Given the description of an element on the screen output the (x, y) to click on. 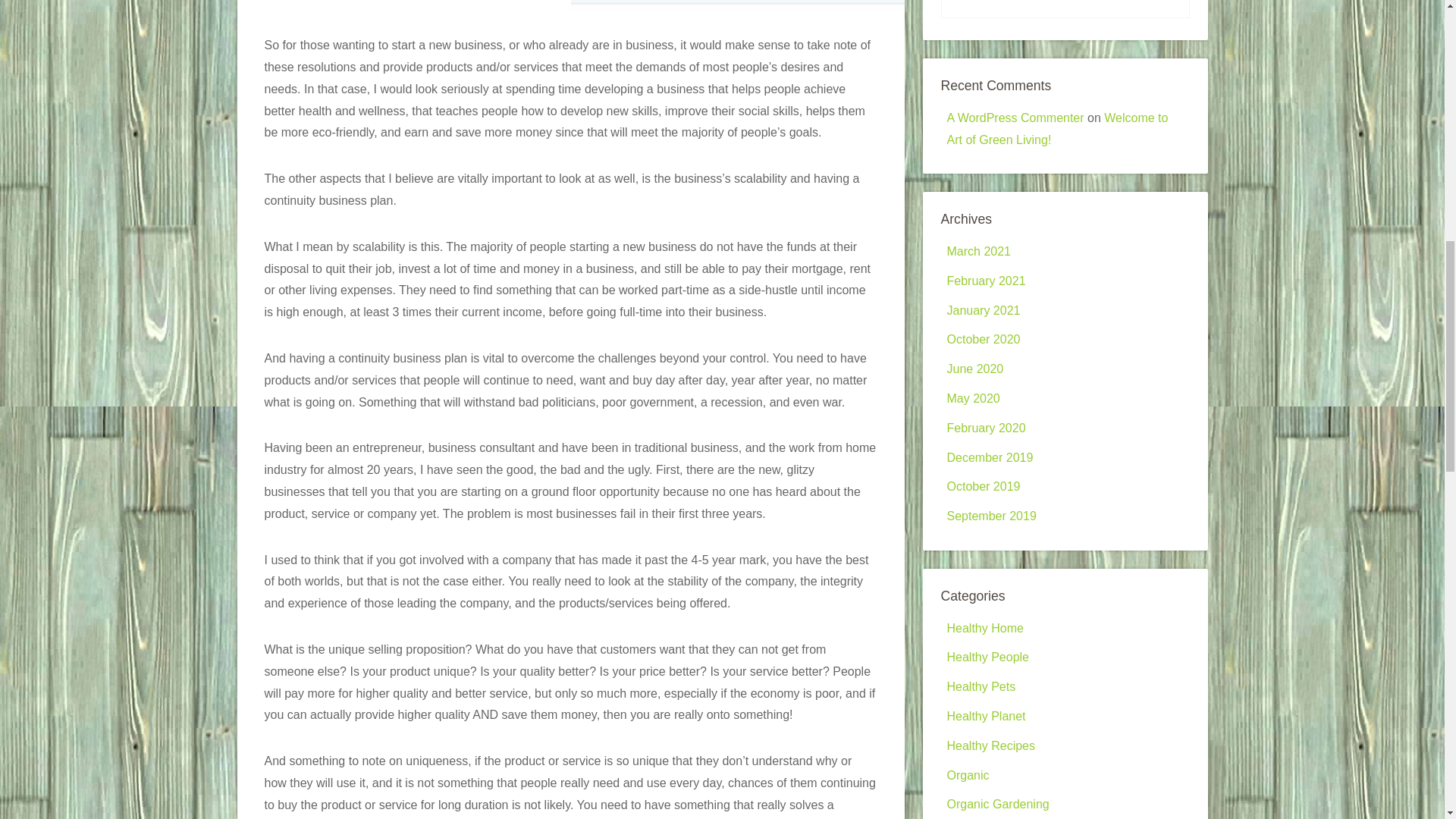
February 2021 (985, 280)
March 2021 (978, 250)
Welcome to Art of Green Living! (1056, 128)
June 2020 (974, 368)
A WordPress Commenter (1014, 117)
October 2020 (983, 338)
January 2021 (983, 309)
